Given the description of an element on the screen output the (x, y) to click on. 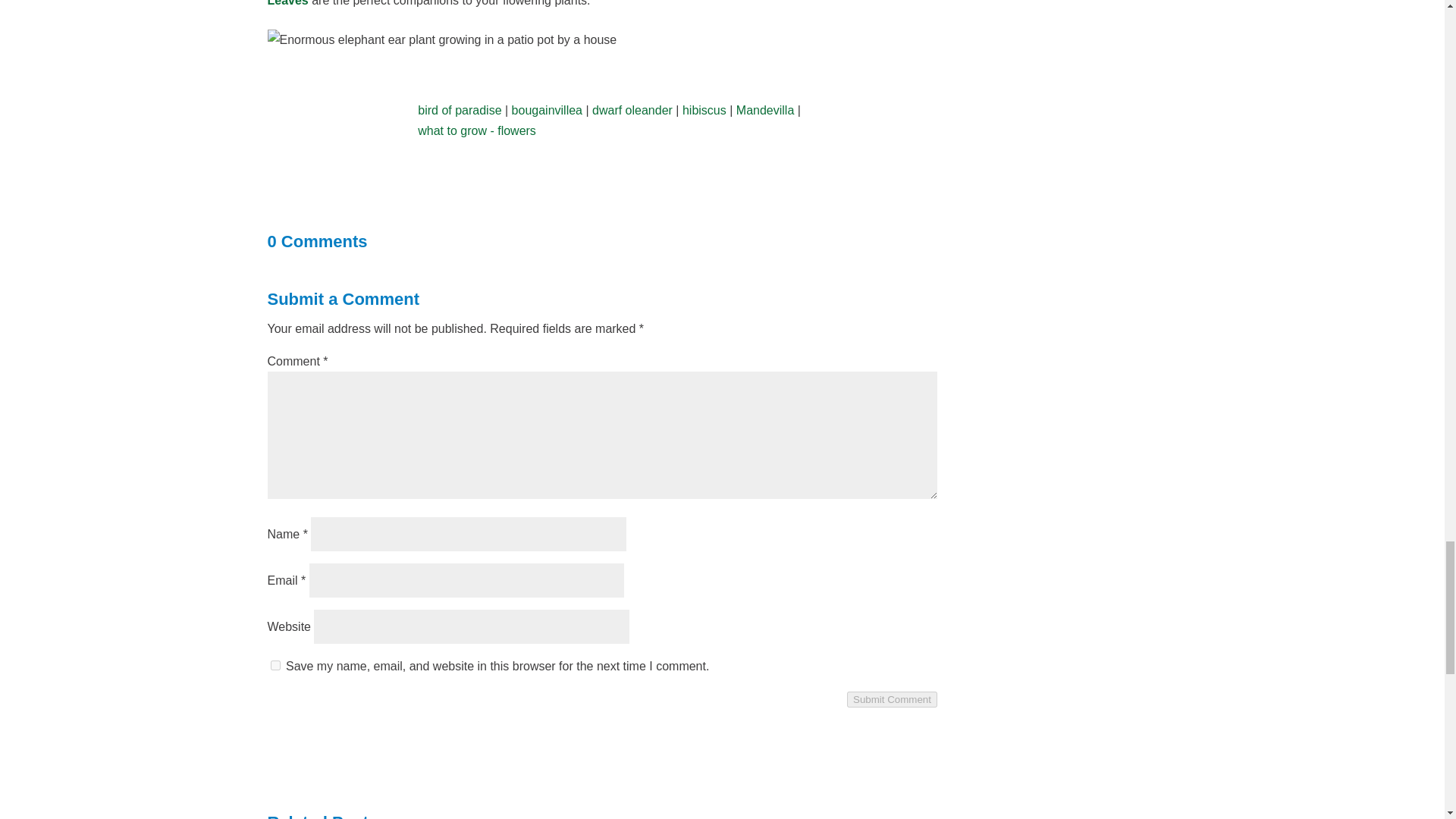
dwarf oleander (632, 110)
Submit Comment (892, 699)
hibiscus (704, 110)
bird of paradise (458, 110)
bougainvillea (547, 110)
what to grow - flowers (476, 130)
yes (274, 665)
Mandevilla (764, 110)
